Given the description of an element on the screen output the (x, y) to click on. 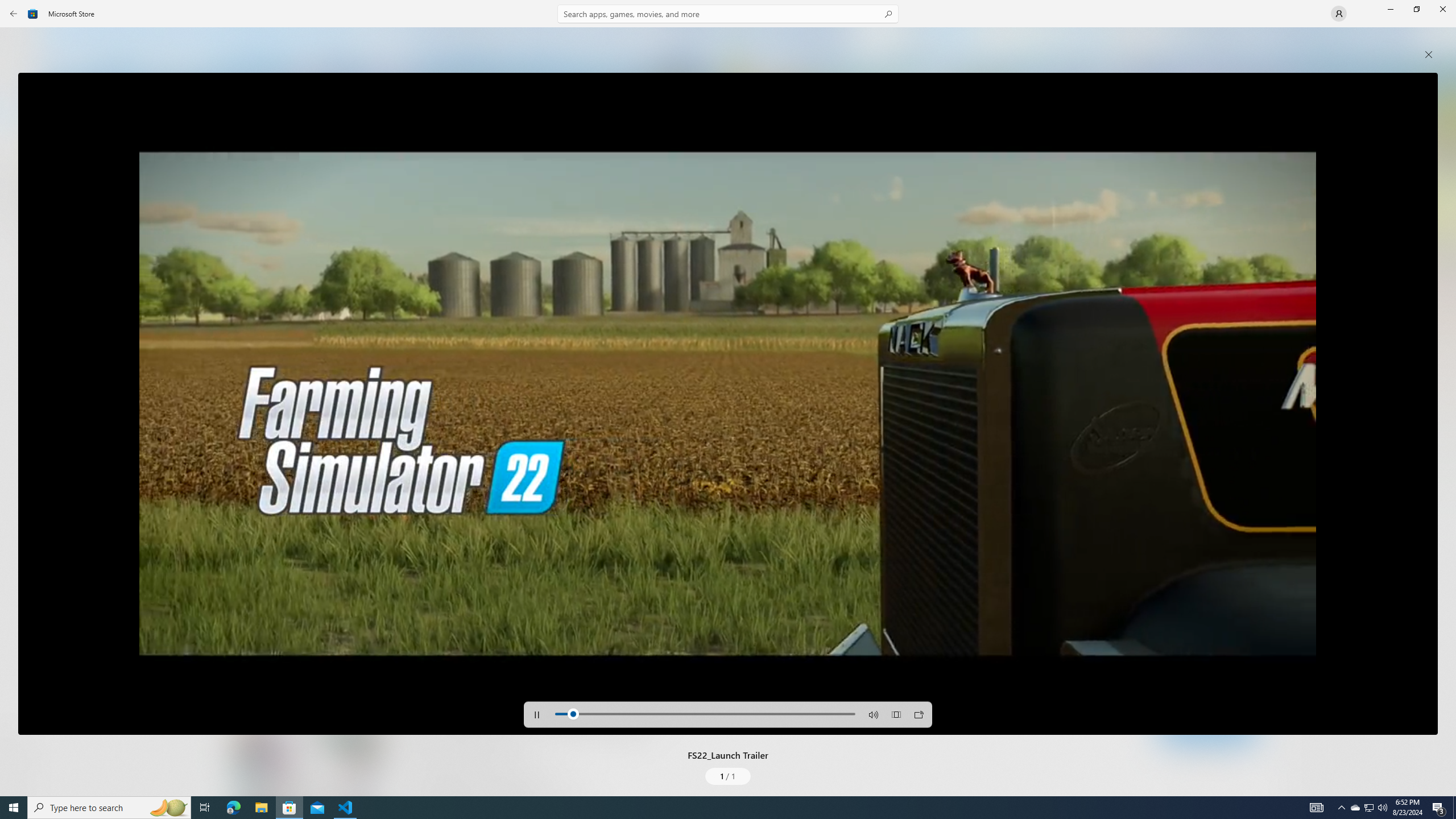
Seek (705, 713)
Farming Simulator 22 PC, Edition selector (449, 610)
Back (13, 13)
Home (20, 45)
Volume (873, 713)
Entertainment (20, 185)
Play with Game Pass (436, 649)
Minimize Microsoft Store (1390, 9)
Buy (568, 649)
close popup window (1428, 54)
Class: Image (32, 13)
AutomationID: PosterImage (727, 403)
Search (727, 13)
Age rating: EVERYONE. Click for more information. (537, 538)
Aspect Ratio (896, 713)
